Given the description of an element on the screen output the (x, y) to click on. 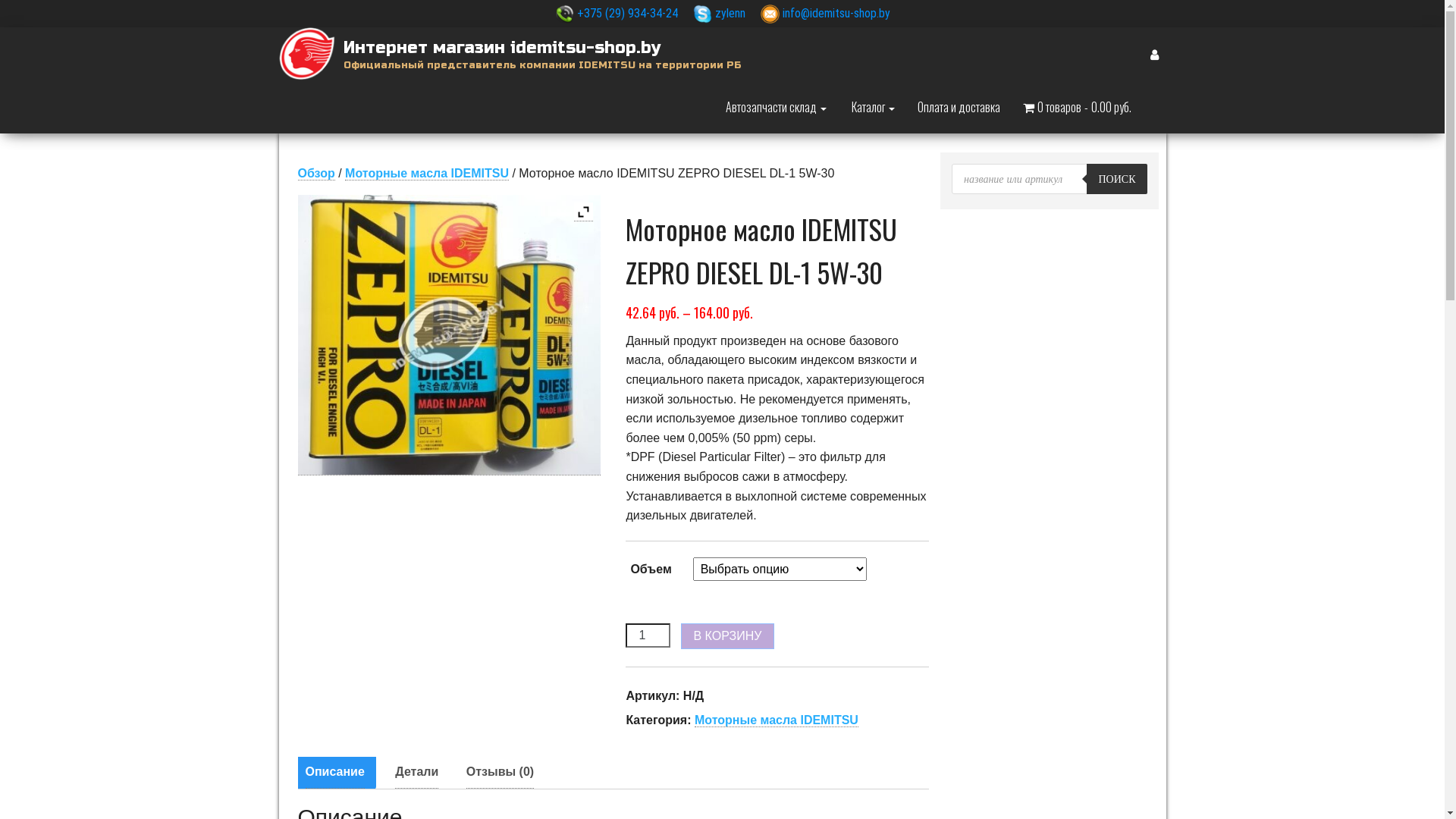
info@idemitsu-shop.by Element type: text (836, 13)
2018-07-28 13.10.36 Element type: hover (448, 334)
My Account Element type: hover (1153, 53)
+375 (29) 934-34-24 Element type: text (626, 13)
zylenn Element type: text (727, 13)
